Given the description of an element on the screen output the (x, y) to click on. 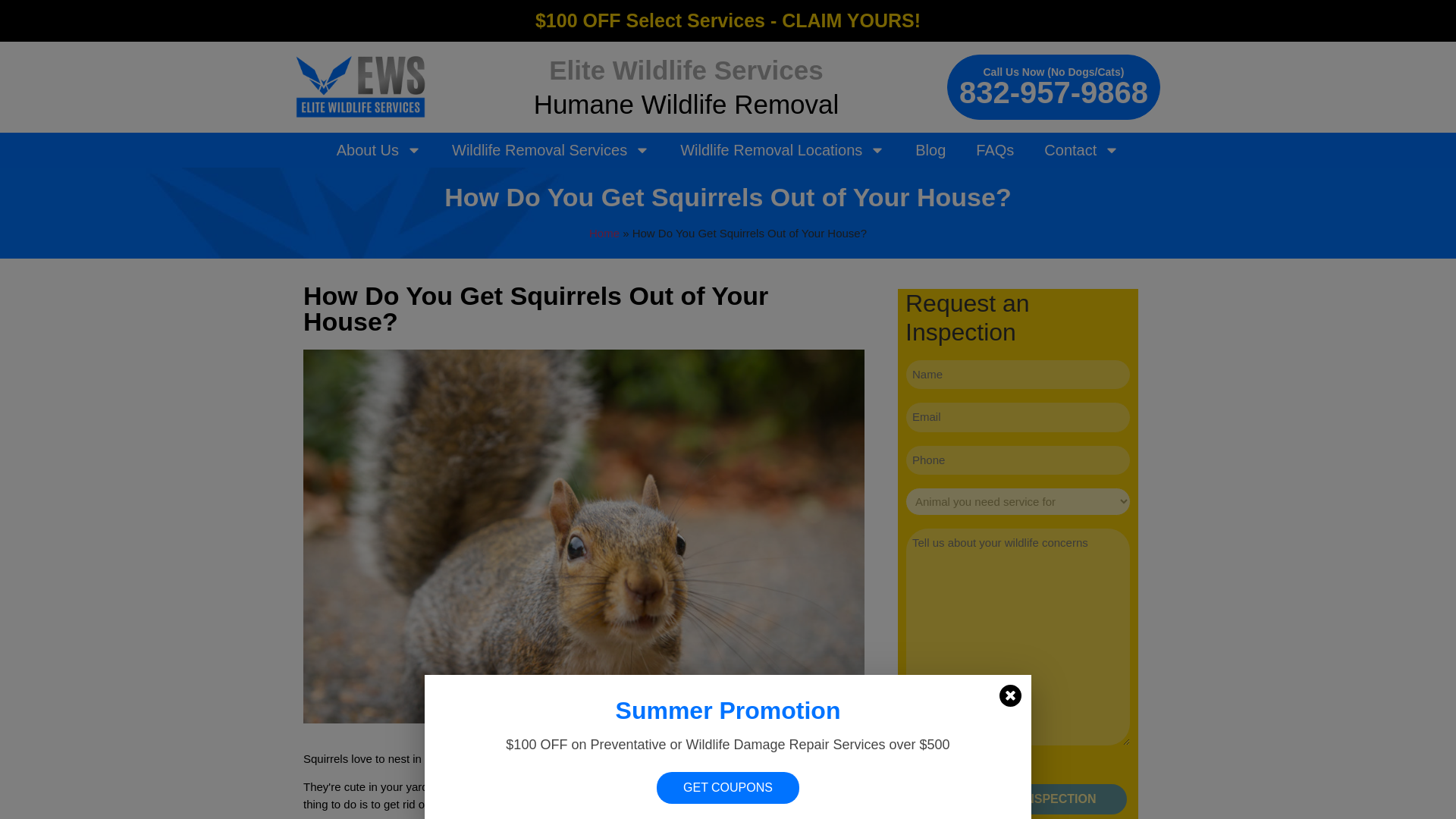
About Us (378, 149)
FAQs (994, 149)
Wildlife Removal Services (550, 149)
Blog (929, 149)
REQUEST AN INSPECTION (1018, 799)
Wildlife Removal Locations (782, 149)
Contact (1081, 149)
